Given the description of an element on the screen output the (x, y) to click on. 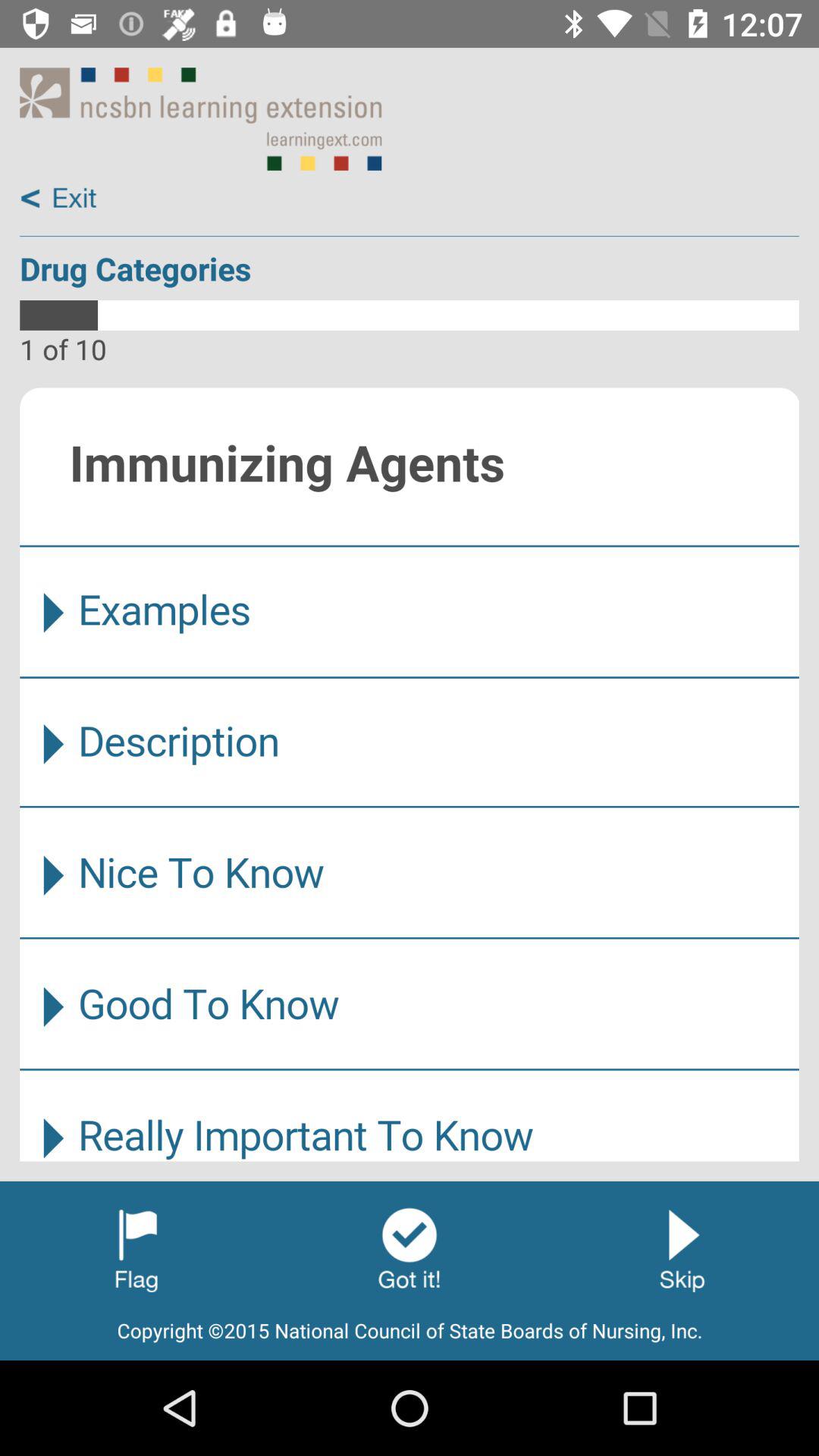
immunizing agents menu (409, 774)
